Given the description of an element on the screen output the (x, y) to click on. 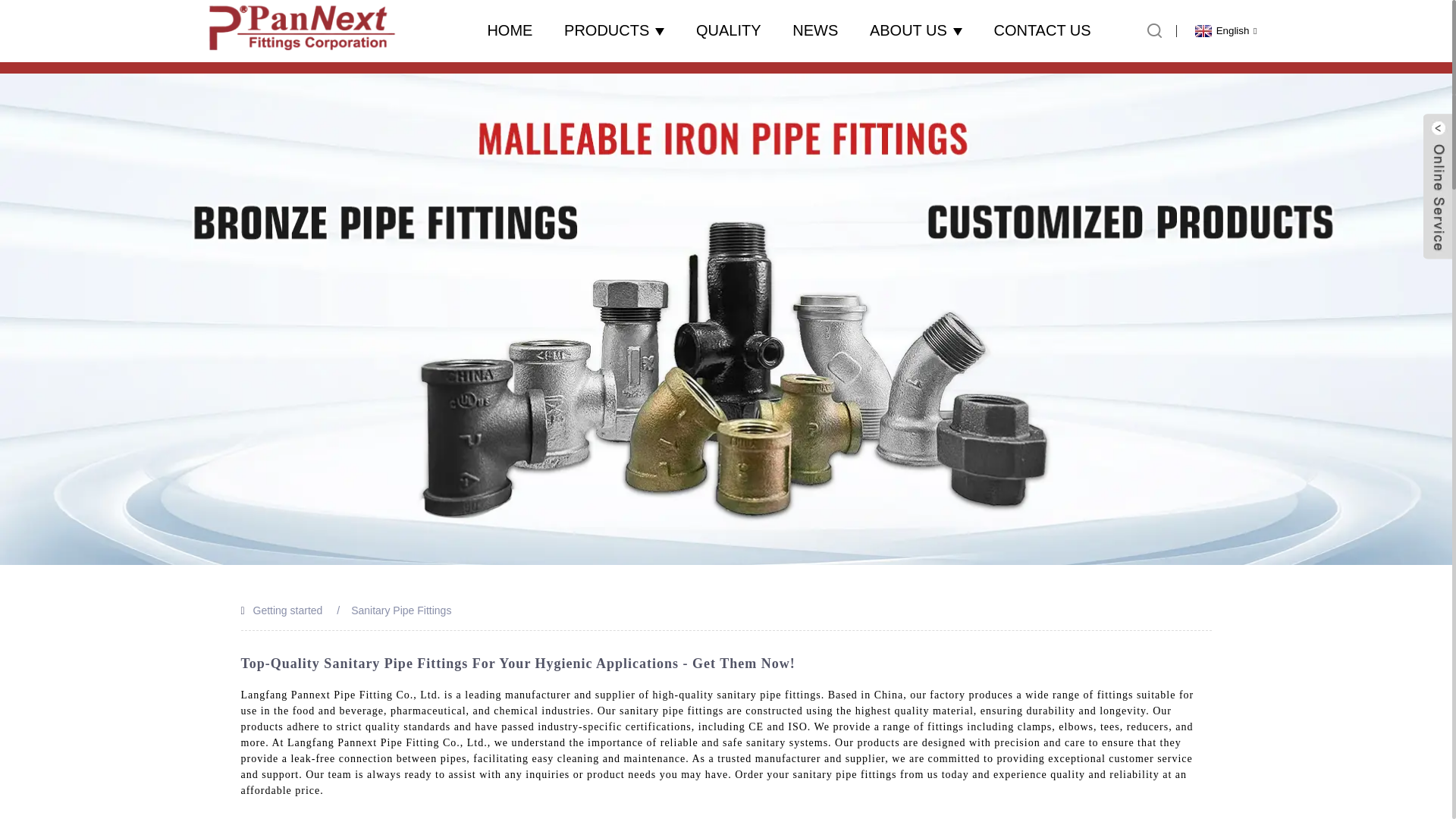
Sanitary Pipe Fittings (400, 610)
Getting started (288, 610)
English (1224, 30)
ABOUT US (915, 30)
CONTACT US (1041, 30)
PRODUCTS (613, 30)
QUALITY (728, 30)
